Given the description of an element on the screen output the (x, y) to click on. 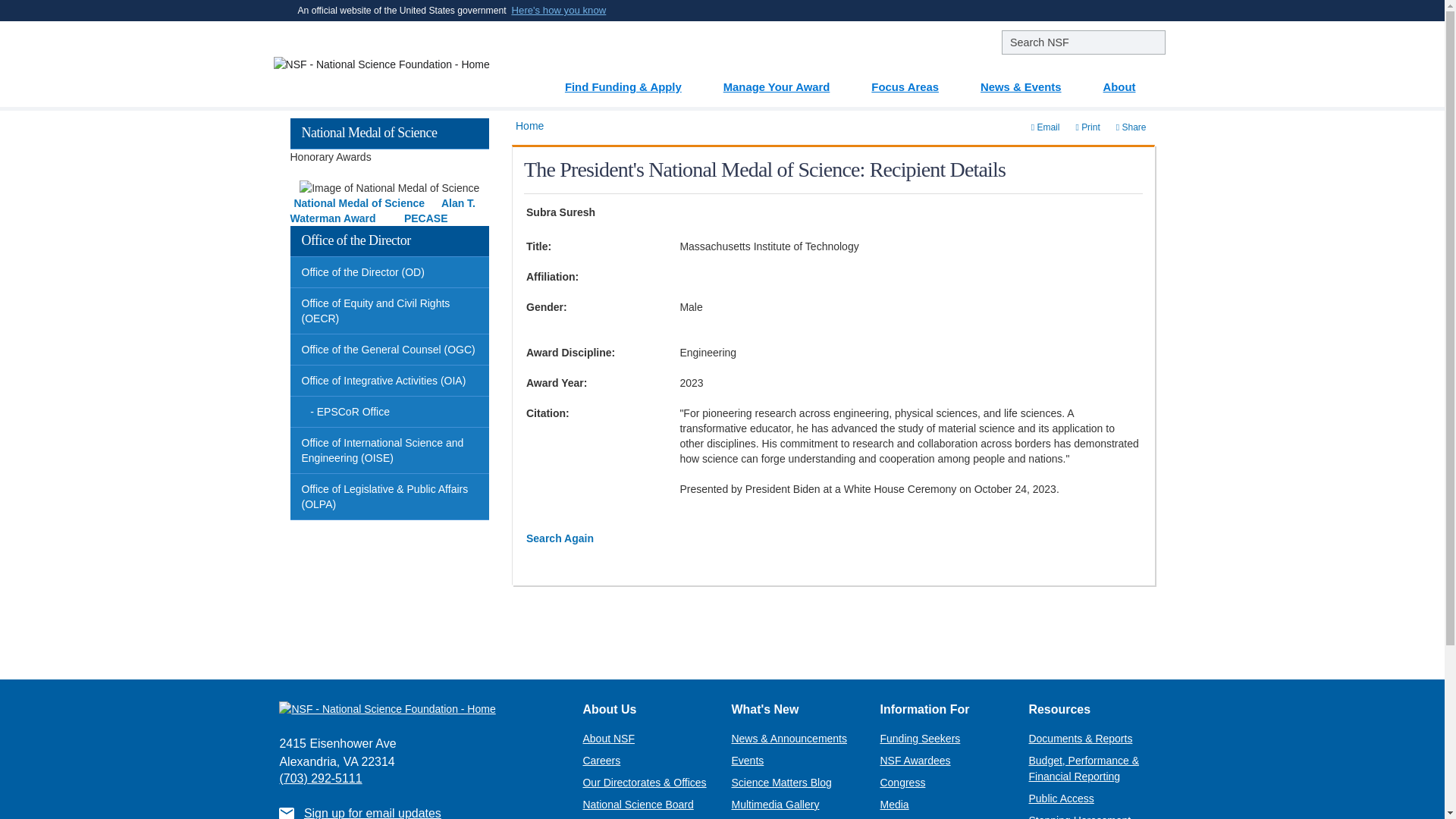
Alan T. Waterman Award (382, 210)
Email (1045, 127)
Print (1087, 127)
About (1128, 81)
Sign up for email updates (372, 812)
Home (529, 125)
PECASE (426, 218)
Search Again (559, 538)
Here's how you know (559, 10)
Careers (601, 760)
NSF - National Science Foundation - Home (386, 64)
National Medal of Science (359, 203)
Share (1131, 127)
Manage Your Award (785, 81)
search (1082, 42)
